Given the description of an element on the screen output the (x, y) to click on. 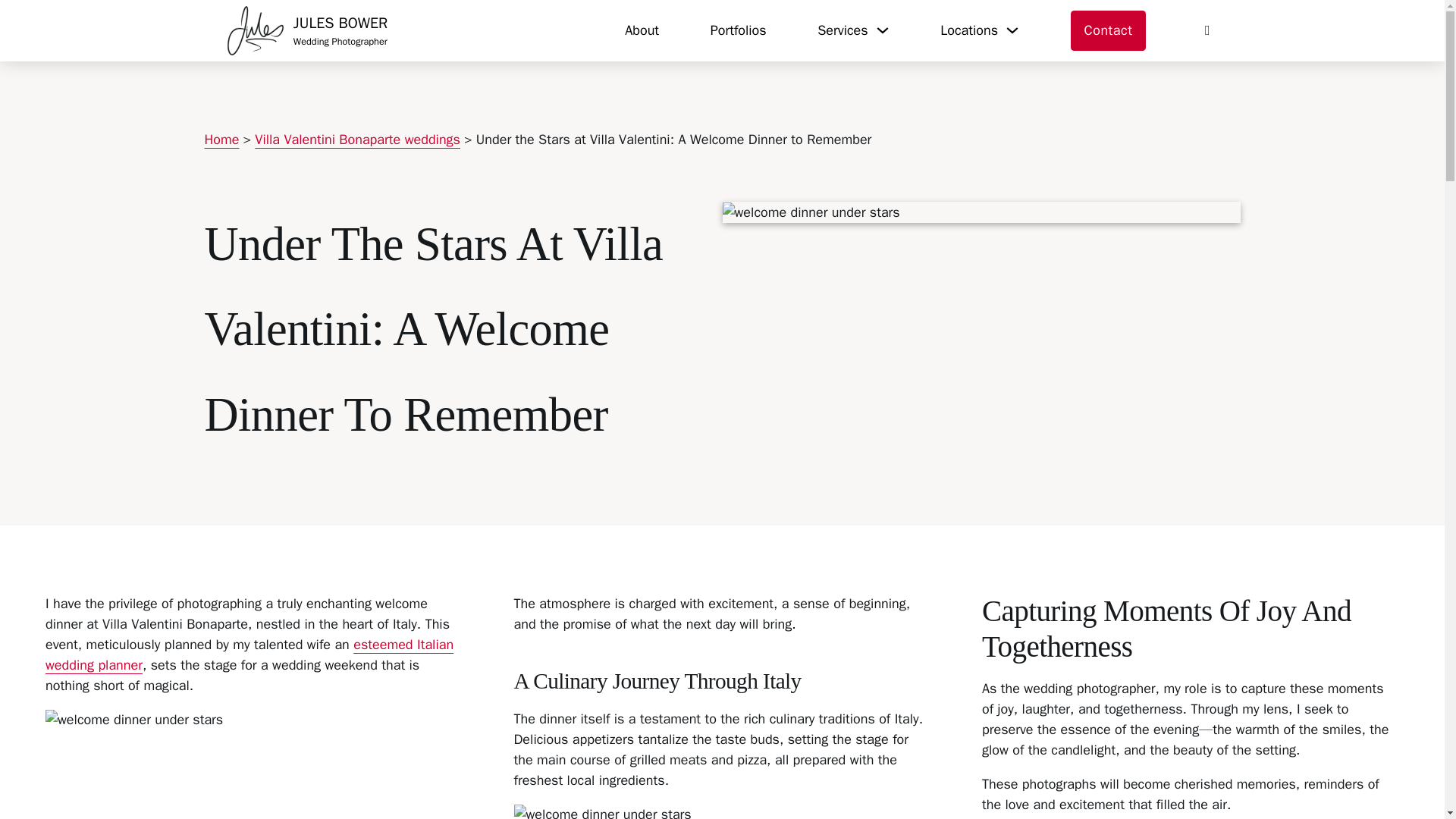
Contact (1108, 30)
Home (222, 139)
Villa Valentini Bonaparte weddings (357, 139)
About (641, 30)
esteemed Italian wedding planner (307, 30)
Portfolios (248, 654)
